Given the description of an element on the screen output the (x, y) to click on. 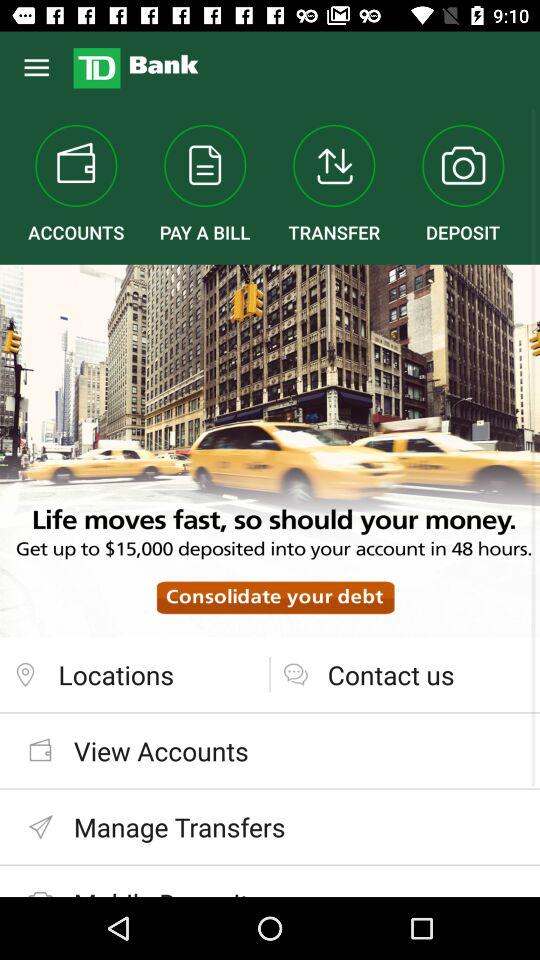
press the item at the center (270, 450)
